Given the description of an element on the screen output the (x, y) to click on. 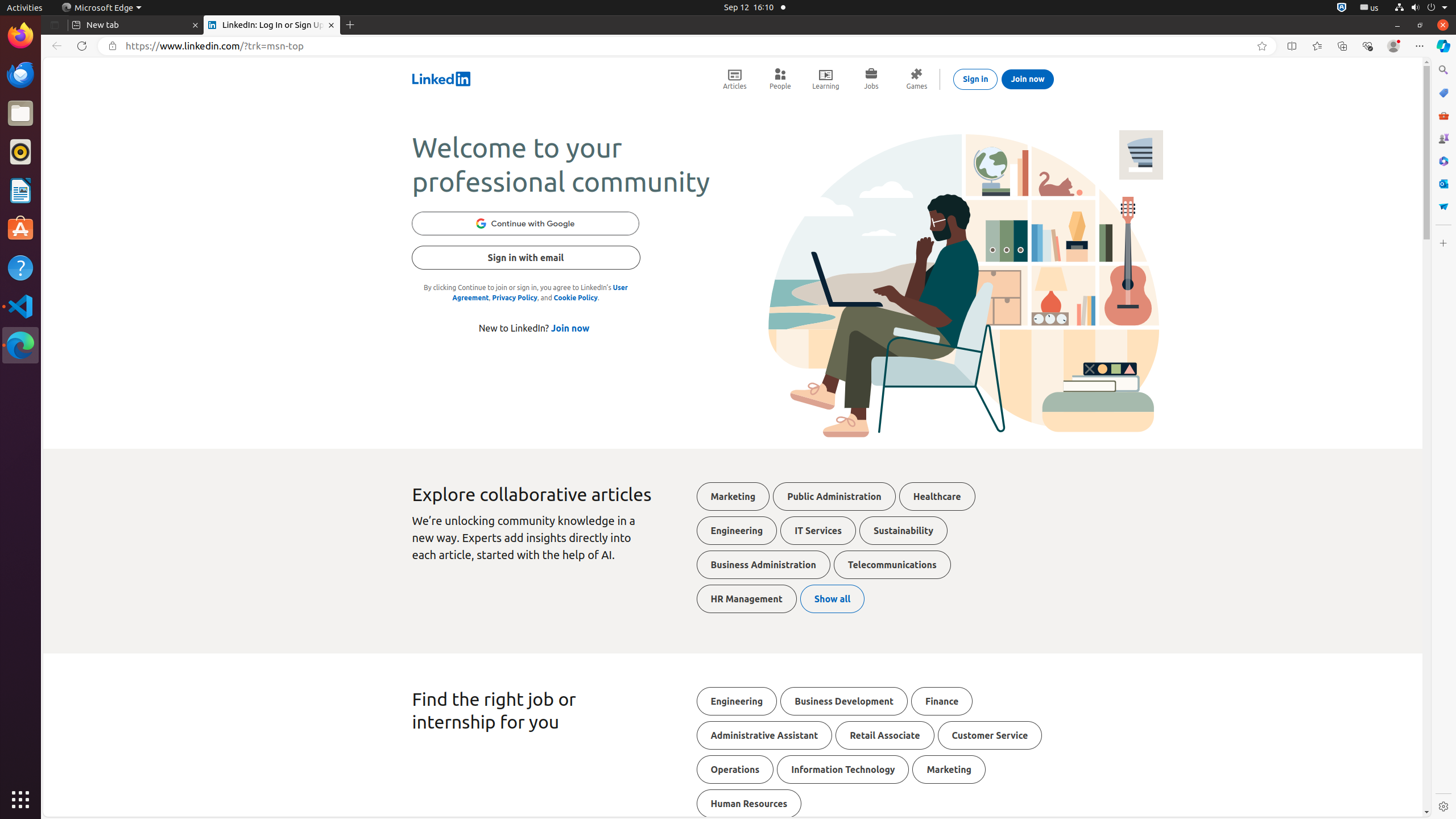
LinkedIn Element type: link (440, 78)
Search Element type: push-button (1443, 69)
Operations Element type: link (734, 769)
Continue with Google Element type: push-button (524, 223)
Sign in Element type: link (975, 78)
